Given the description of an element on the screen output the (x, y) to click on. 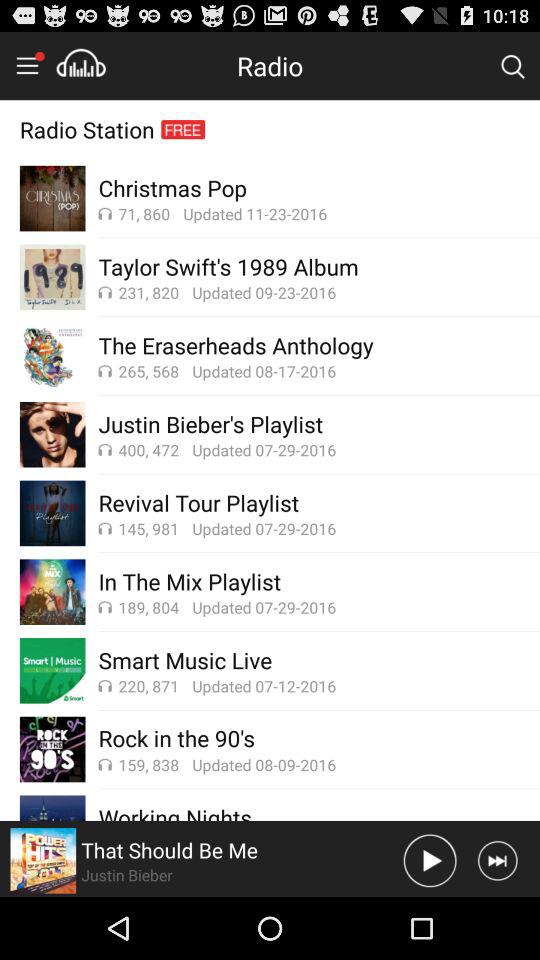
select headphones (81, 65)
